Given the description of an element on the screen output the (x, y) to click on. 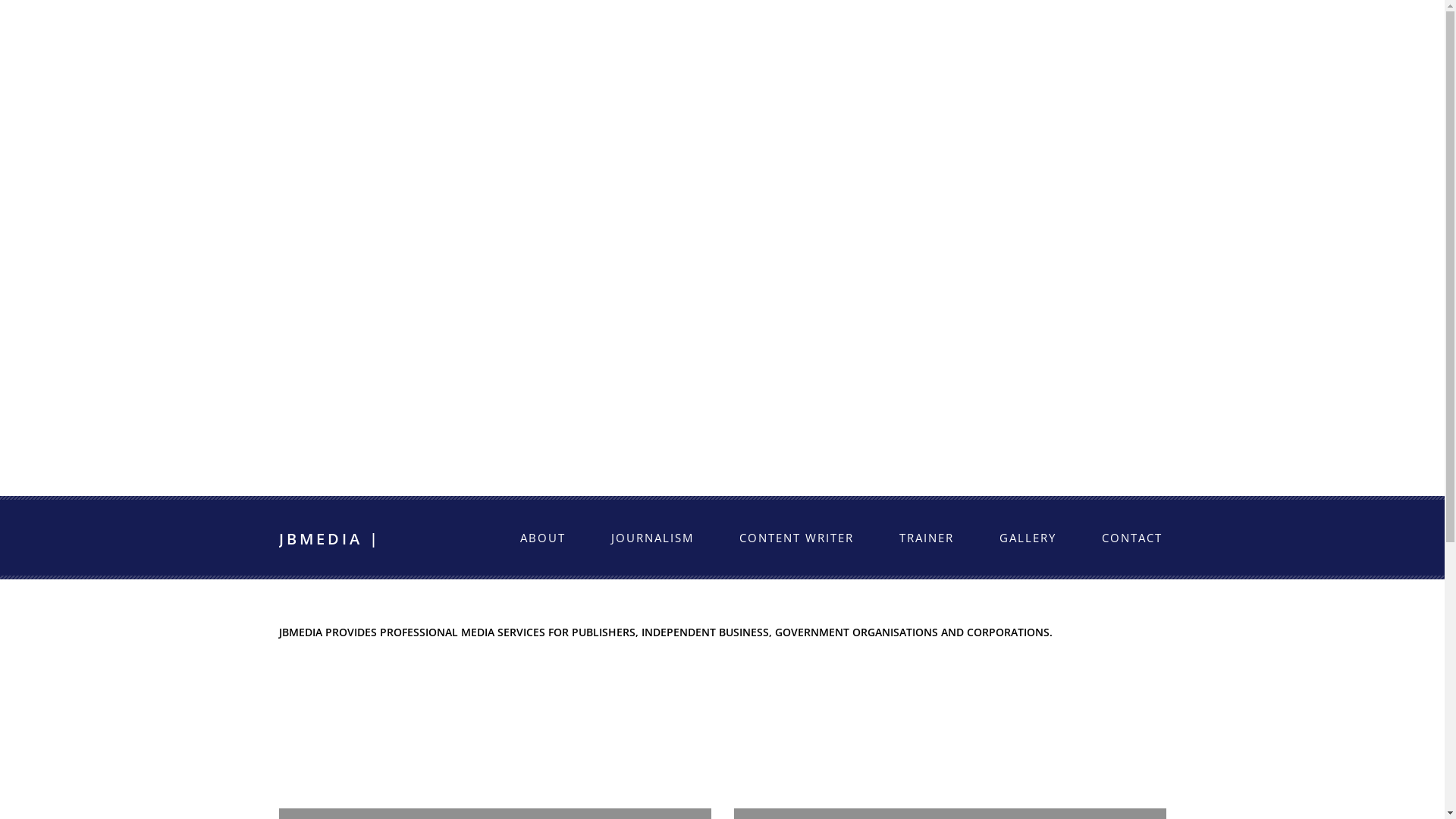
GALLERY Element type: text (1027, 537)
JOURNALISM Element type: text (652, 537)
TRAINER Element type: text (926, 537)
CONTACT Element type: text (1131, 537)
ABOUT Element type: text (542, 537)
JBMEDIA | Element type: text (329, 538)
CONTENT WRITER Element type: text (795, 537)
